Given the description of an element on the screen output the (x, y) to click on. 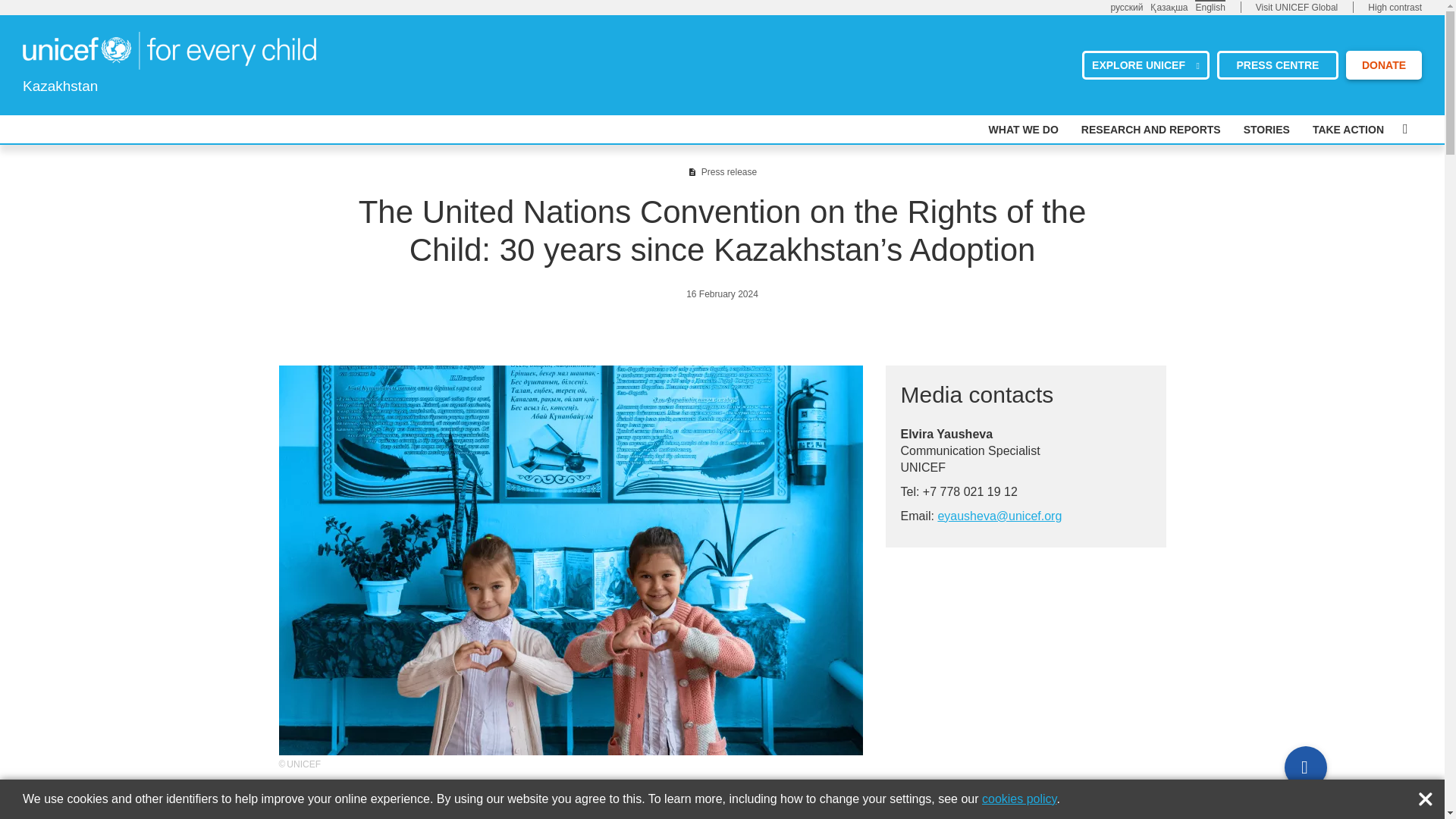
DONATE (1383, 63)
cookies policy (1019, 798)
Visit UNICEF Global (1296, 7)
WHAT WE DO (1023, 129)
Kazakhstan (169, 50)
EXPLORE UNICEF (1145, 63)
EXPLORE UNICEF (1145, 63)
TAKE ACTION (1348, 129)
High contrast (1395, 7)
STORIES (1266, 129)
